Given the description of an element on the screen output the (x, y) to click on. 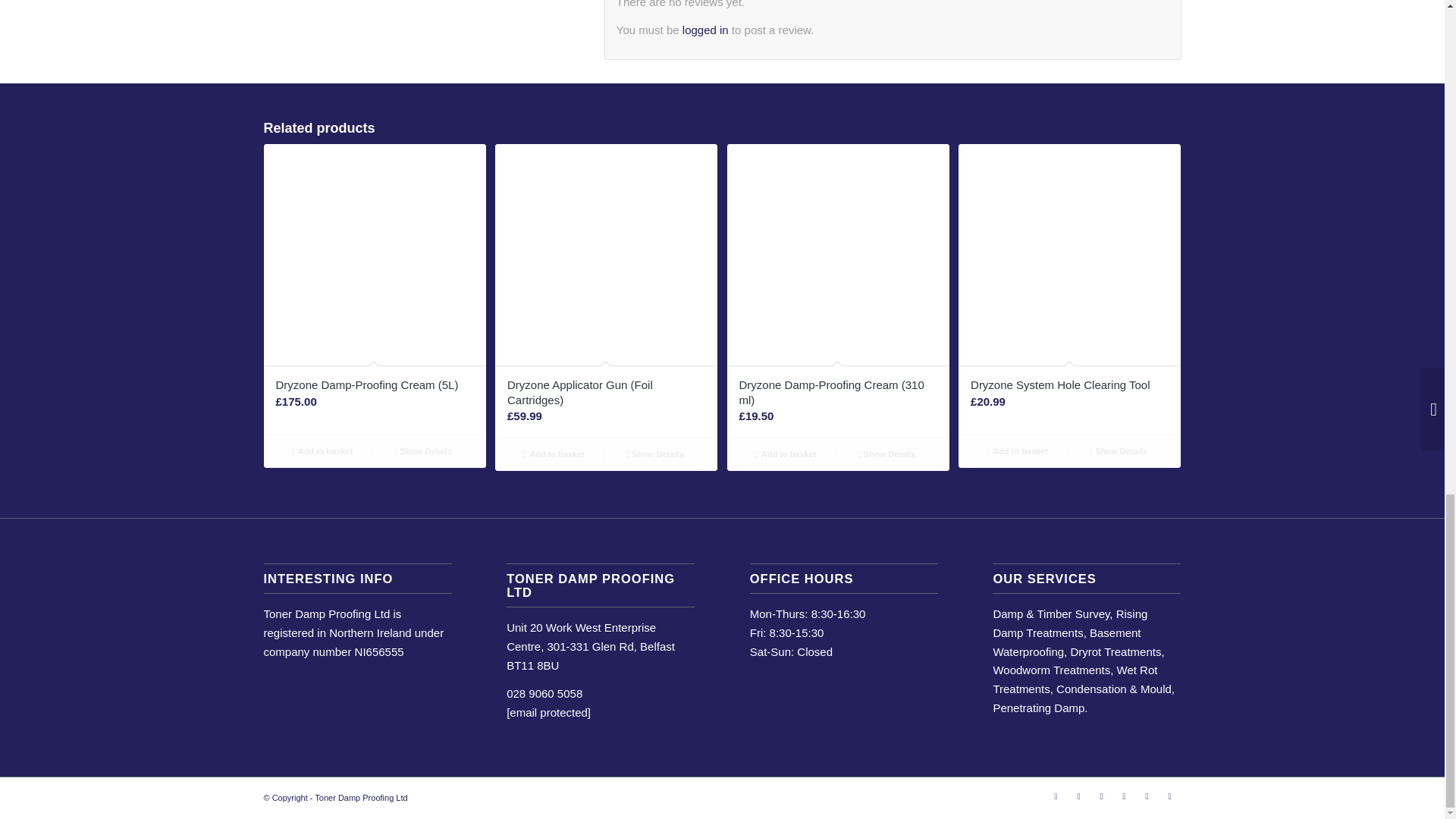
logged in (705, 29)
